Given the description of an element on the screen output the (x, y) to click on. 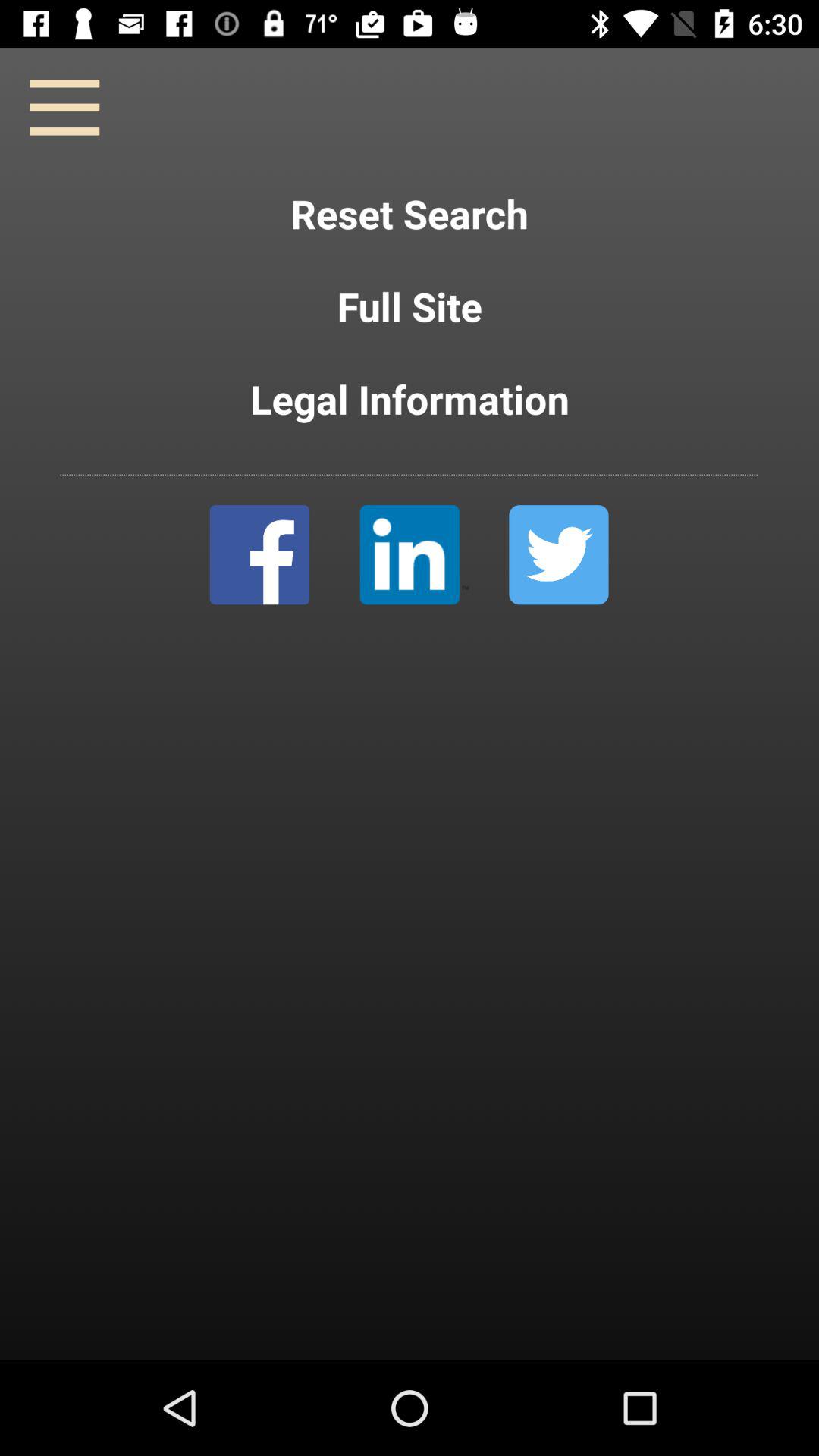
linkedin icon (414, 554)
